Given the description of an element on the screen output the (x, y) to click on. 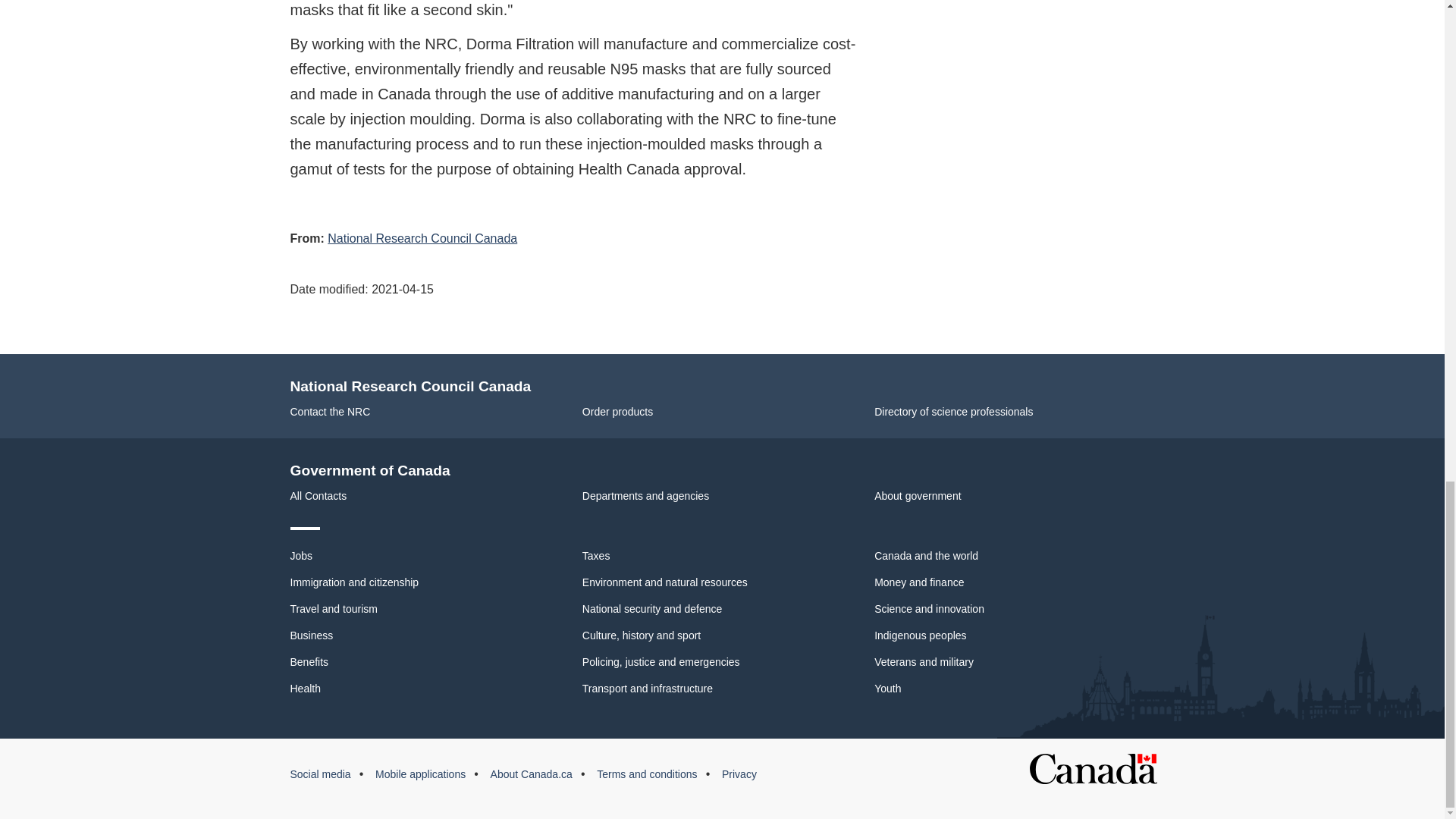
Jobs (301, 555)
All Contacts (317, 495)
Departments and agencies (645, 495)
Immigration and citizenship (354, 582)
Directory of science professionals (953, 411)
National Research Council Canada (421, 237)
Travel and tourism (333, 608)
Order products (617, 411)
About government (917, 495)
Business (311, 635)
